Given the description of an element on the screen output the (x, y) to click on. 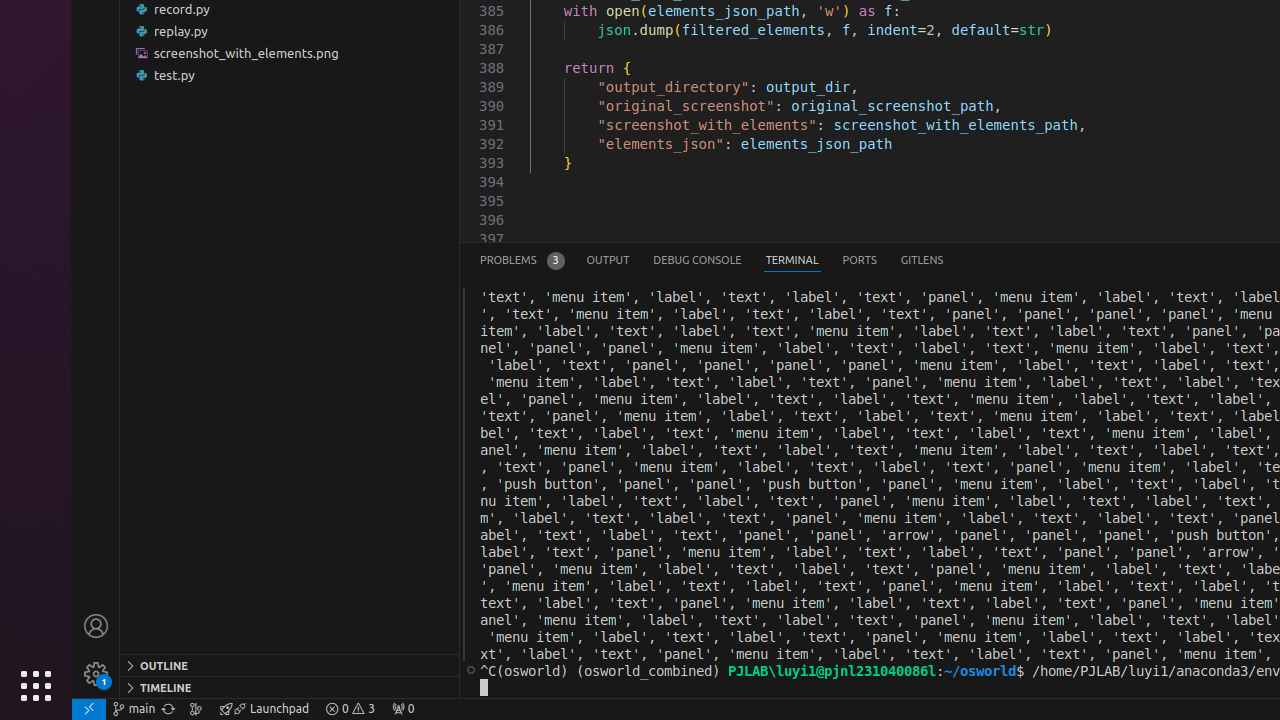
Show the GitLens Commit Graph Element type: push-button (196, 709)
Warnings: 3 Element type: push-button (350, 709)
remote Element type: push-button (89, 709)
Debug Console (Ctrl+Shift+Y) Element type: page-tab (697, 260)
Accounts Element type: push-button (96, 626)
